Given the description of an element on the screen output the (x, y) to click on. 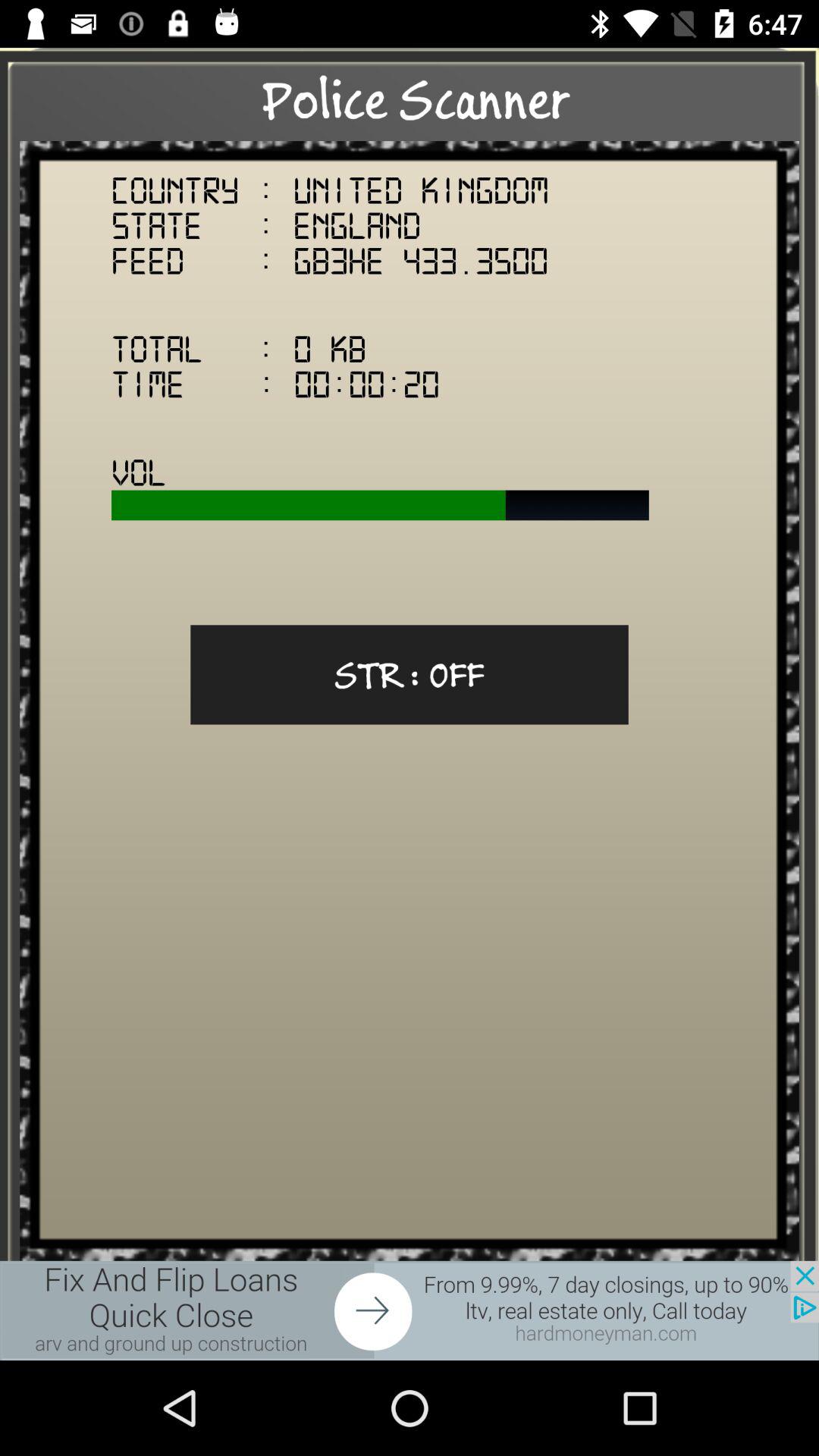
open advertisement (409, 1310)
